Given the description of an element on the screen output the (x, y) to click on. 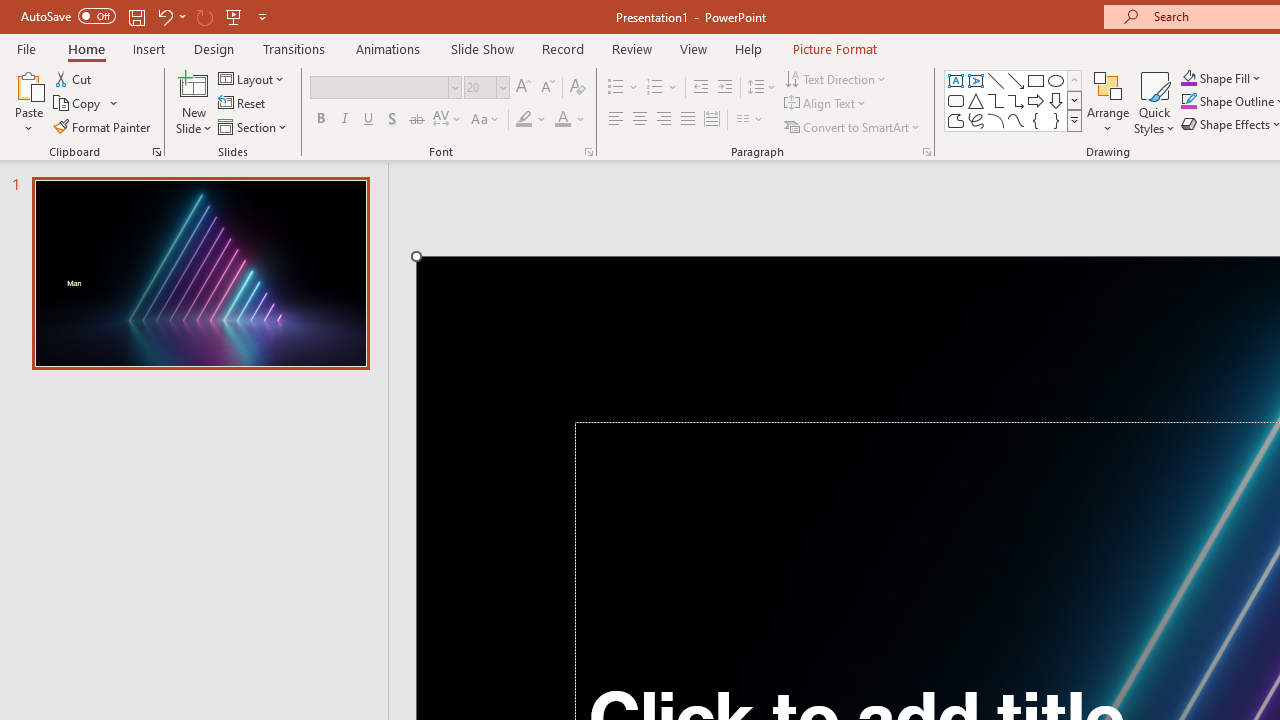
Picture Format (834, 48)
